Given the description of an element on the screen output the (x, y) to click on. 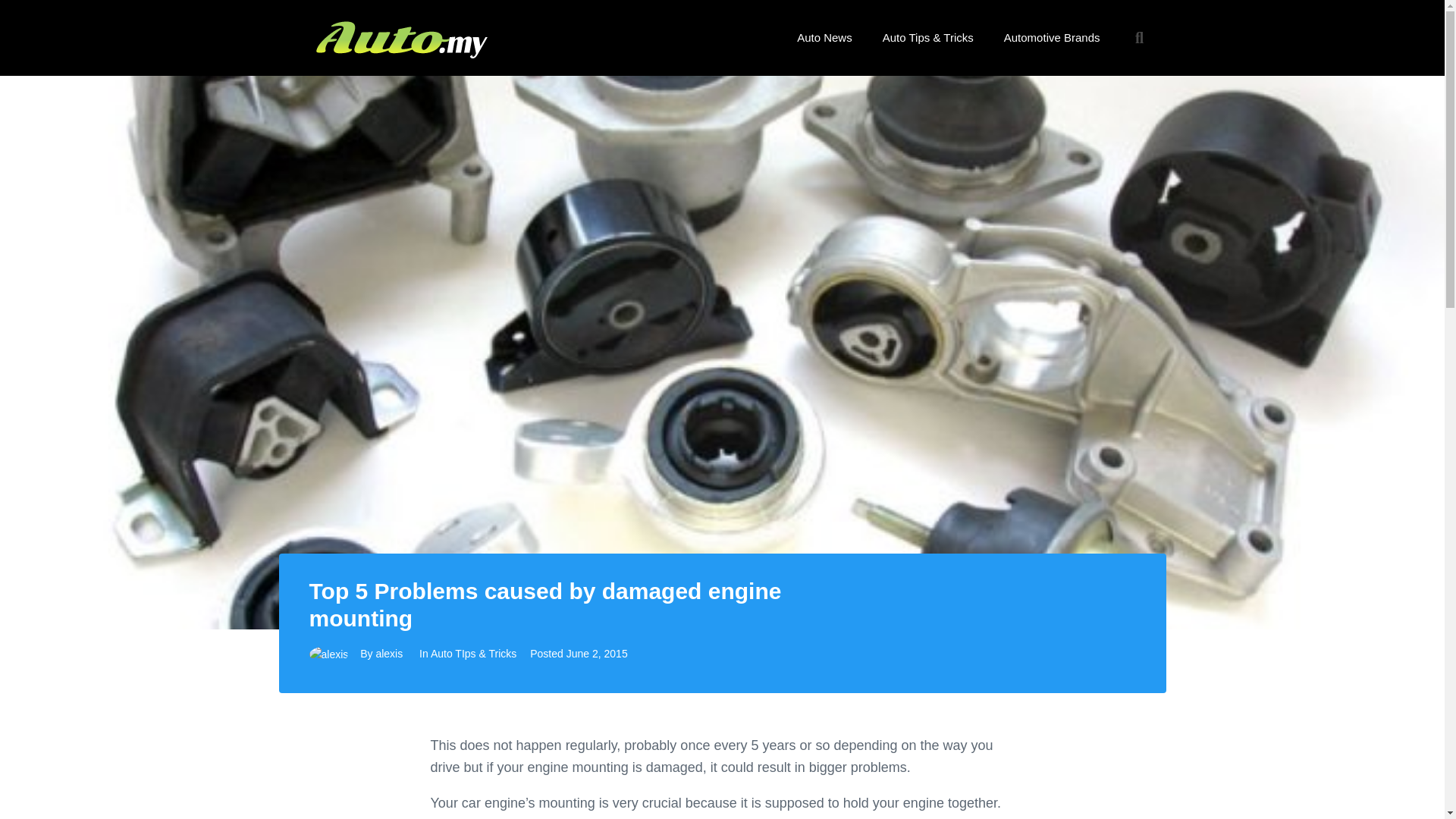
Automotive Brands (1051, 38)
auto My (397, 37)
alexis (389, 653)
Auto News (824, 38)
